Given the description of an element on the screen output the (x, y) to click on. 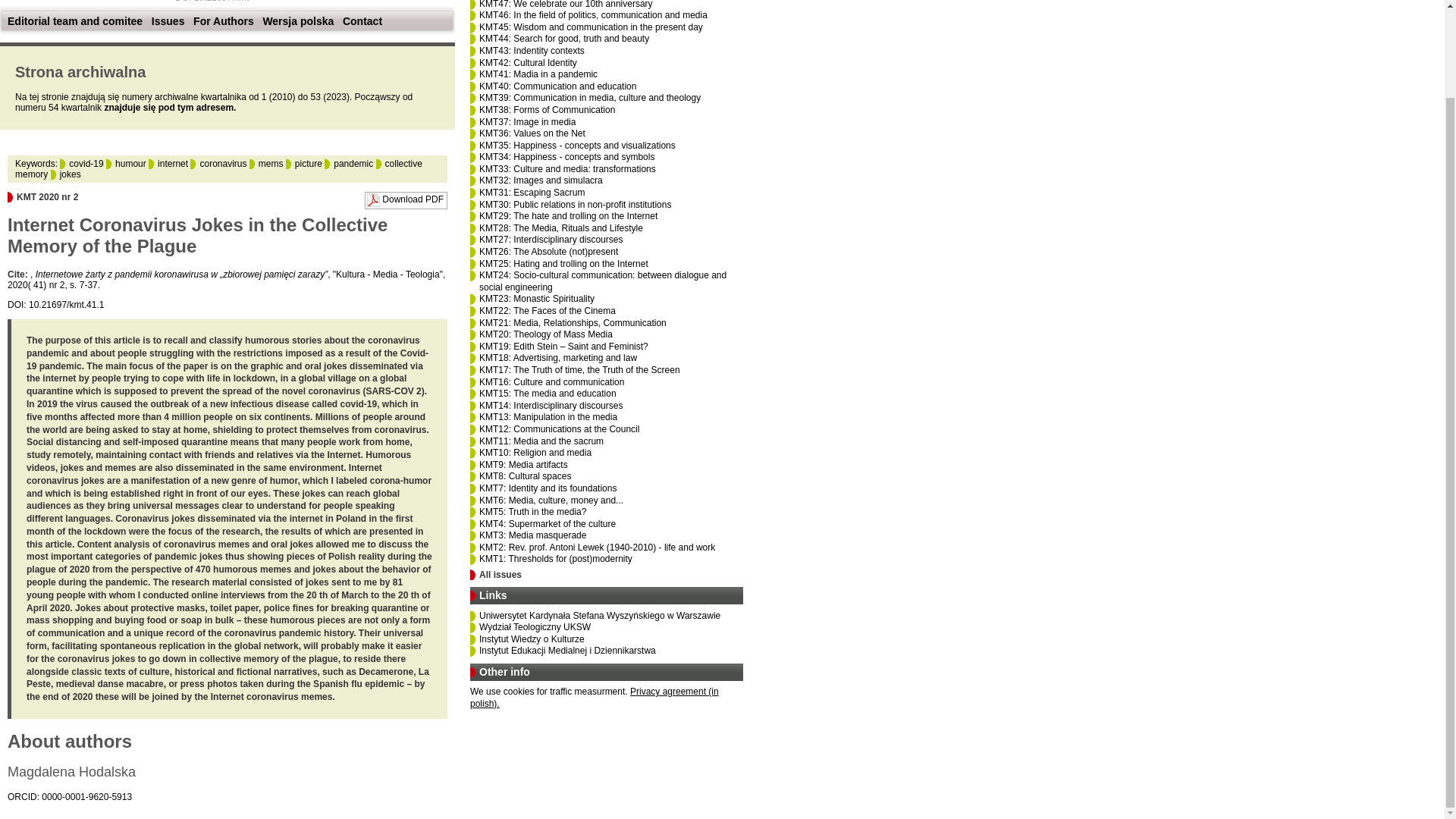
For Authors (223, 21)
KMT35: Happiness - concepts and visualizations (577, 145)
KMT37: Image in media (527, 122)
KMT44: Search for good, truth and beauty (564, 38)
covid-19 (81, 163)
pandemic (348, 163)
internet (167, 163)
picture (303, 163)
KMT41: Madia in a pandemic (537, 73)
Wersja polska (297, 21)
KMT43: Indentity contexts (532, 50)
Editorial team and comitee (74, 21)
humour (126, 163)
0000-0001-9620-5913 (87, 796)
jokes (65, 173)
